Given the description of an element on the screen output the (x, y) to click on. 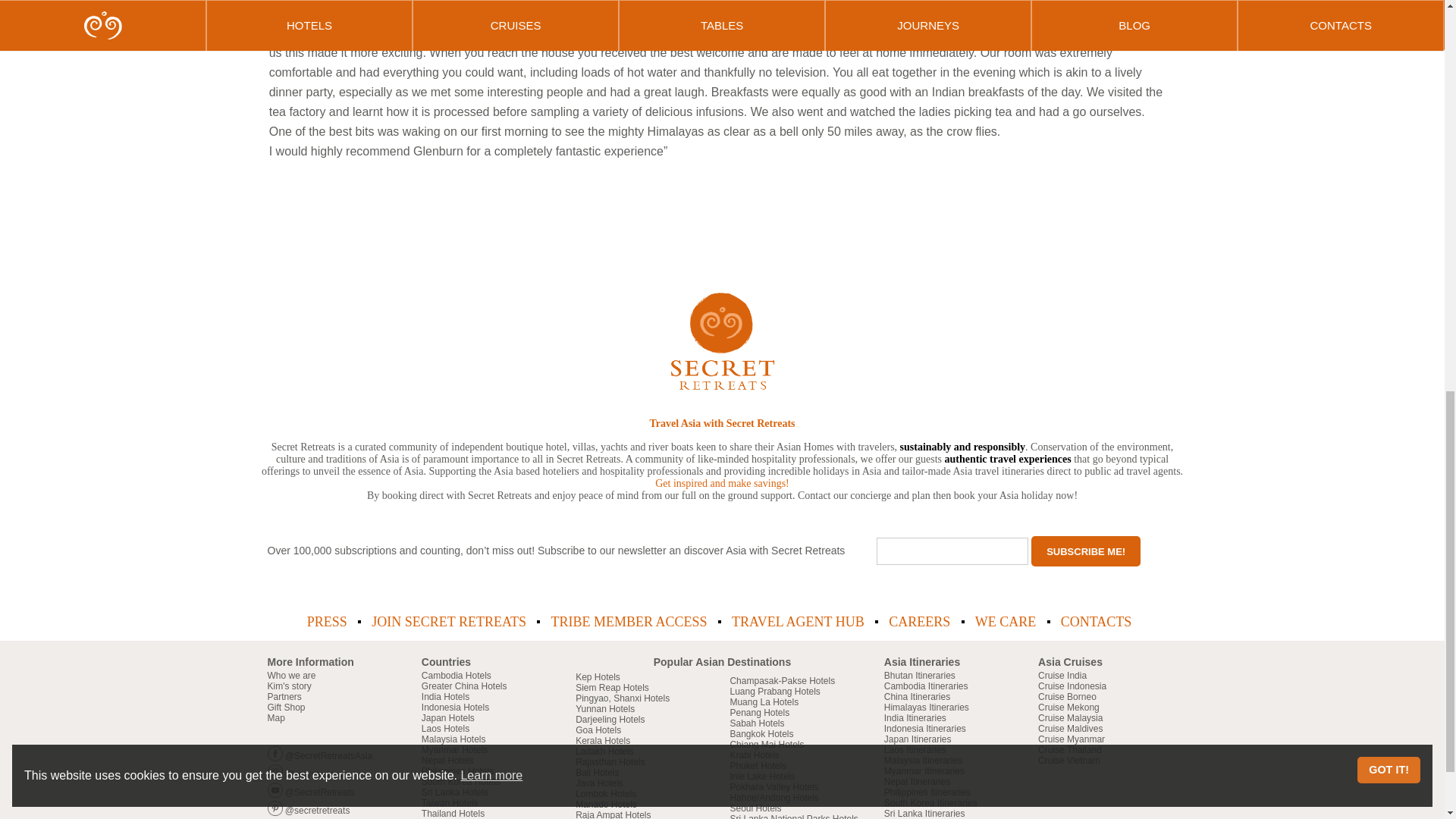
Subscribe me! (1085, 551)
